Given the description of an element on the screen output the (x, y) to click on. 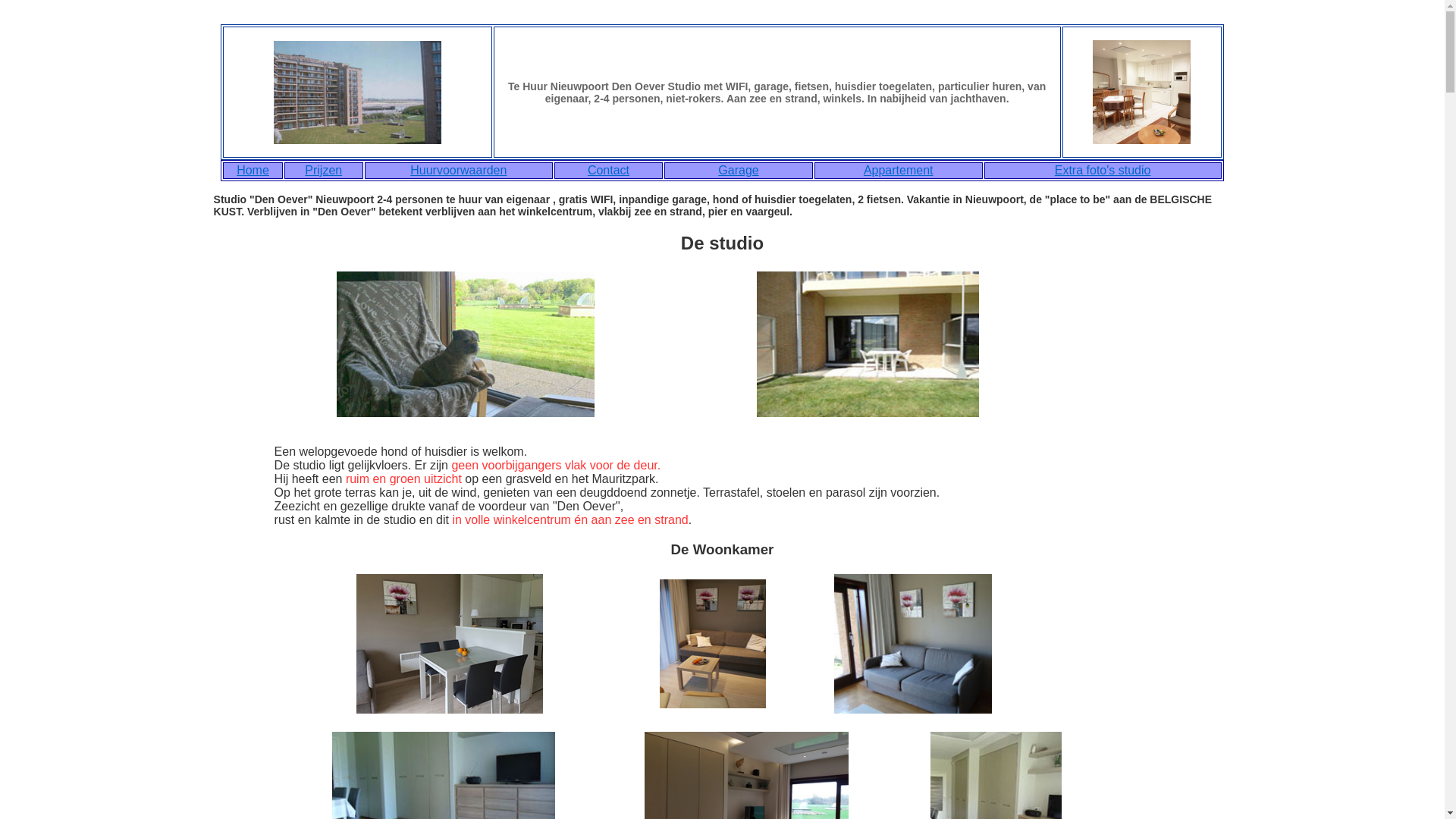
Garage Element type: text (738, 169)
Huurvoorwaarden Element type: text (458, 169)
Prijzen Element type: text (323, 169)
Extra foto's studio Element type: text (1102, 169)
Contact Element type: text (608, 169)
Home Element type: text (252, 169)
Appartement Element type: text (898, 169)
